Given the description of an element on the screen output the (x, y) to click on. 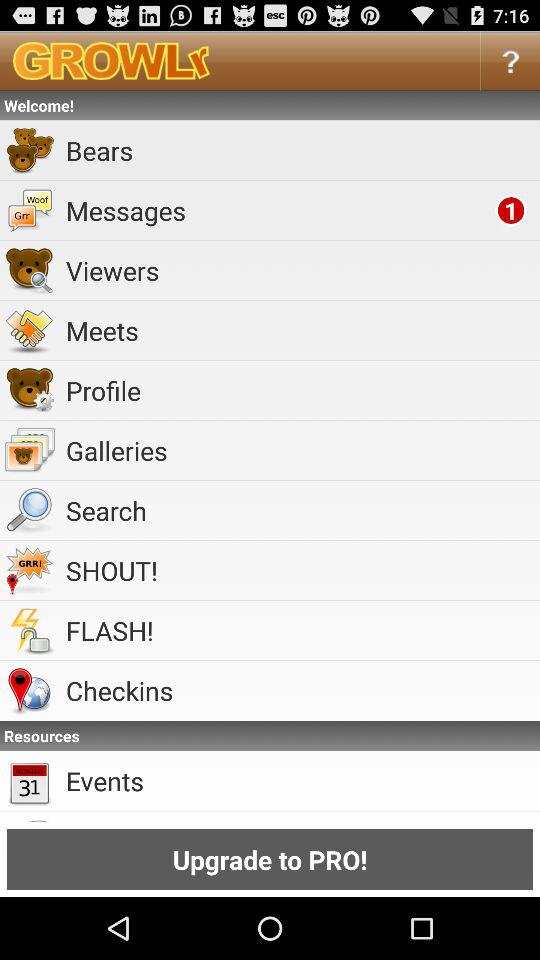
launch messages (277, 210)
